Given the description of an element on the screen output the (x, y) to click on. 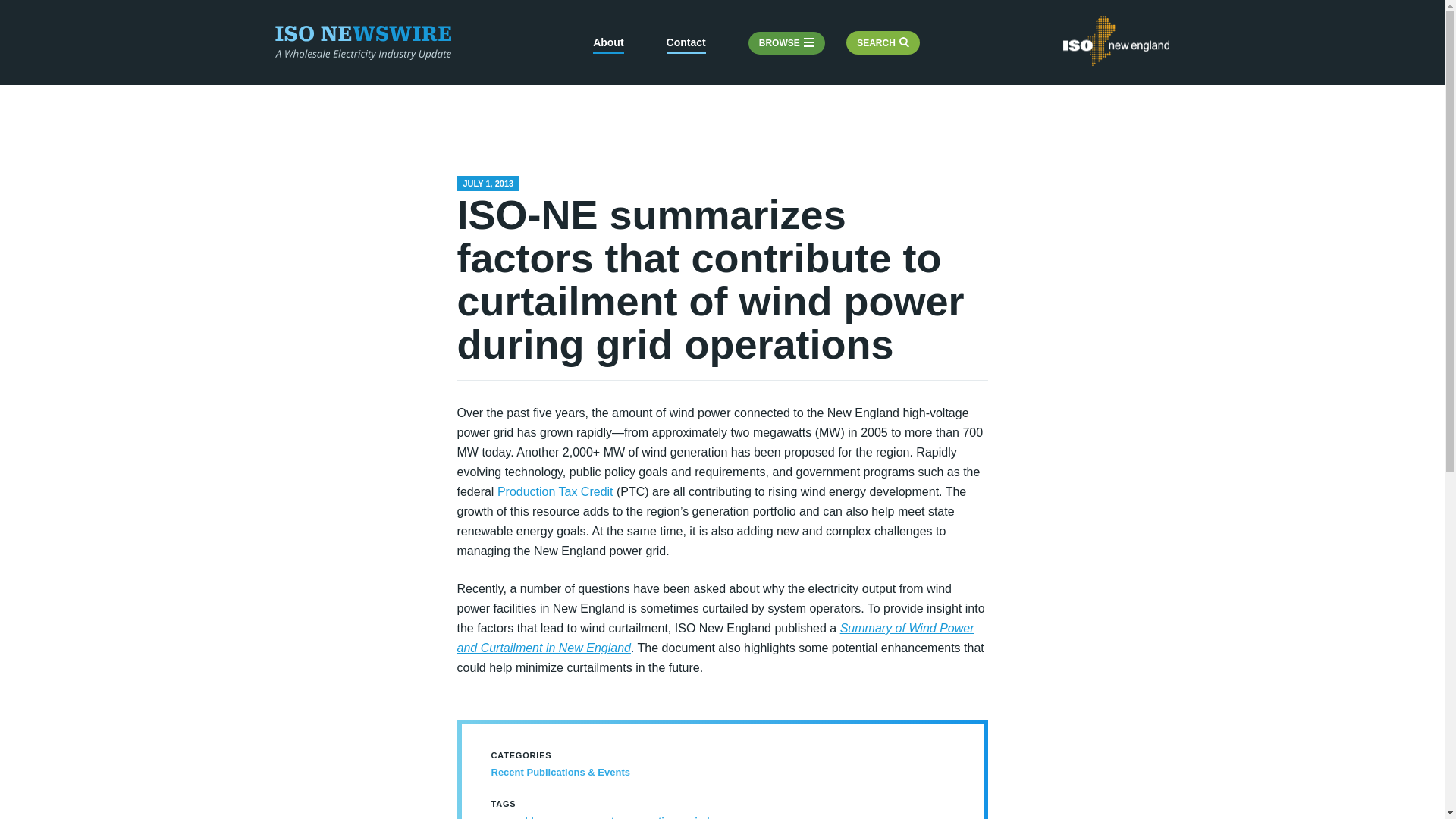
BROWSE (786, 43)
Contact (686, 45)
Toggle Search (882, 43)
SEARCH (882, 43)
About (607, 45)
Toggle Browse (786, 43)
